Given the description of an element on the screen output the (x, y) to click on. 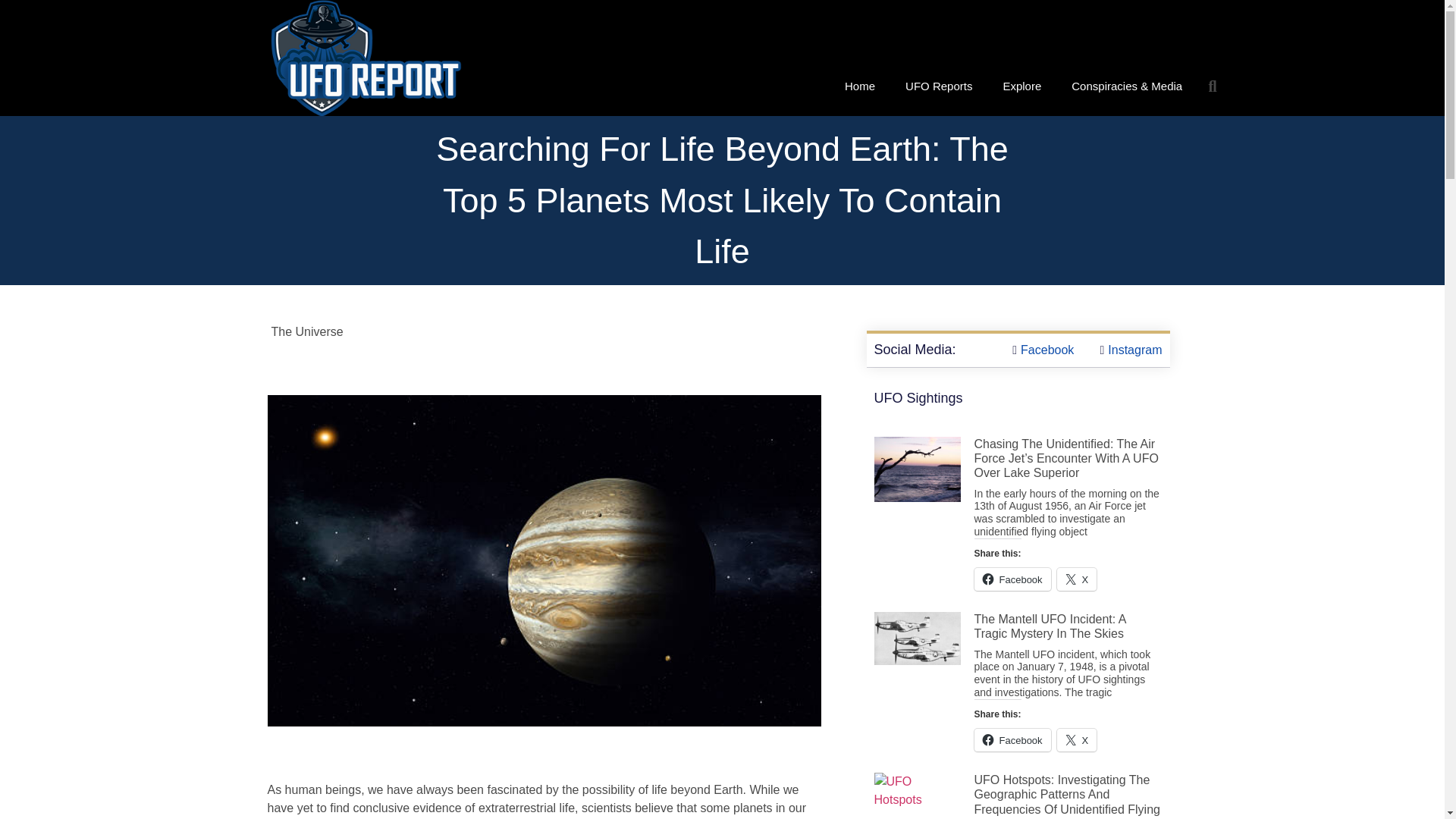
UFO Reports (938, 86)
The Universe (306, 330)
Click to share on Facebook (1011, 579)
Explore (1022, 86)
